Given the description of an element on the screen output the (x, y) to click on. 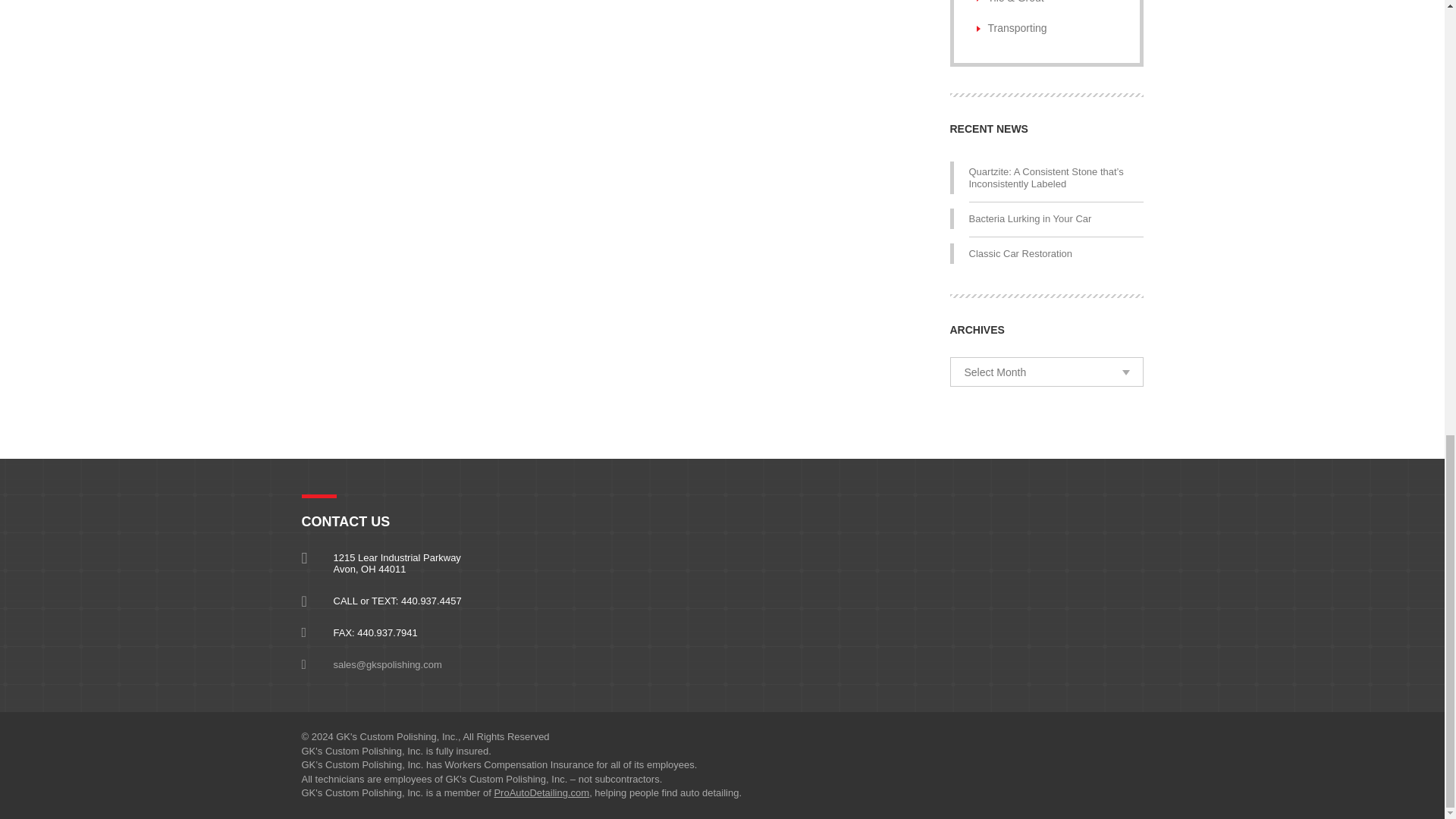
Select Month (1046, 372)
